Given the description of an element on the screen output the (x, y) to click on. 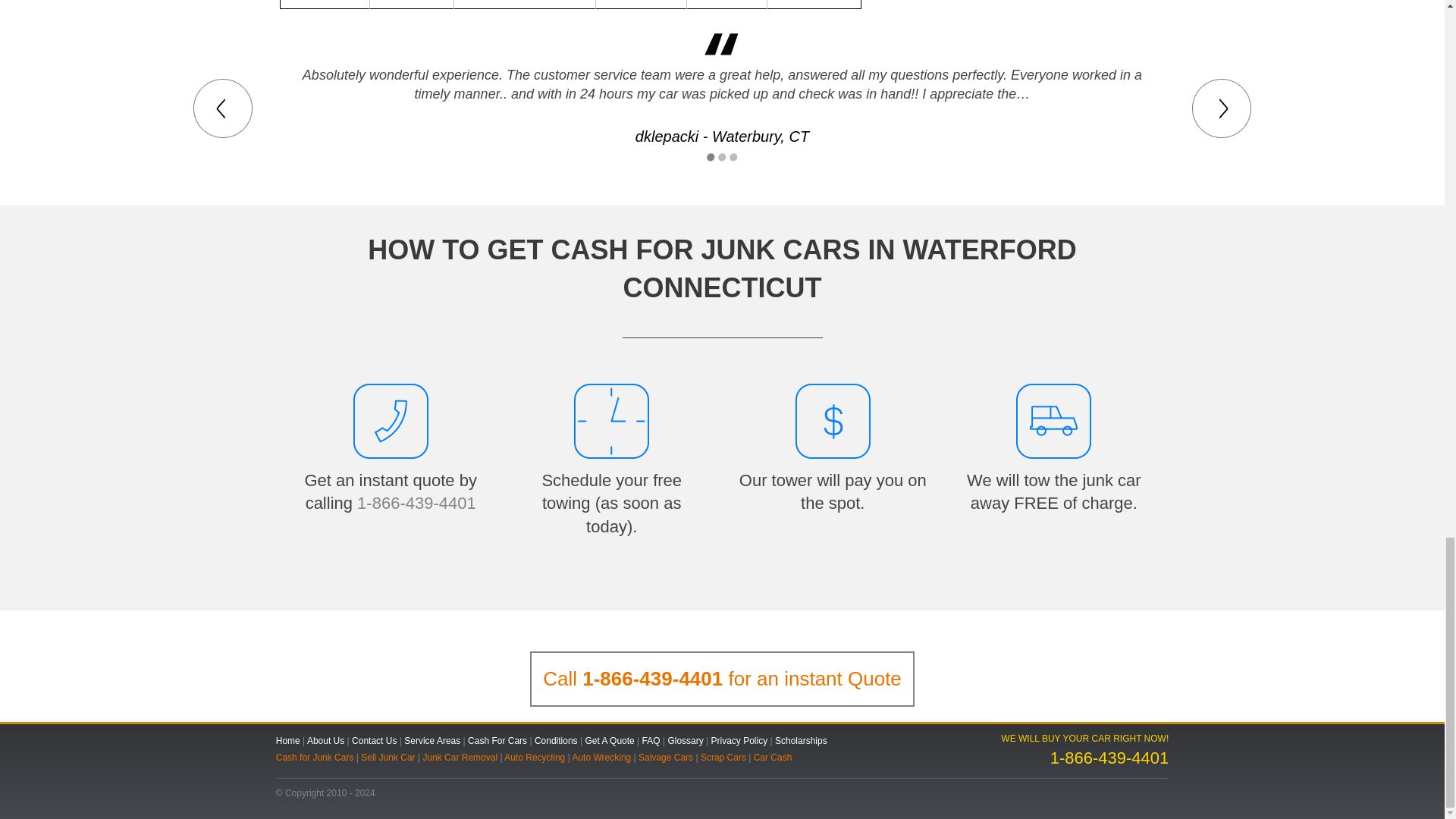
1-866-439-4401 (652, 678)
Contact Us (374, 740)
Junk Car Removal (459, 757)
Privacy Policy (739, 740)
Auto Recycling (533, 757)
Home (287, 740)
Cash for Junk Cars (314, 757)
Glossary (684, 740)
Conditions (556, 740)
Cash For Cars (497, 740)
